Given the description of an element on the screen output the (x, y) to click on. 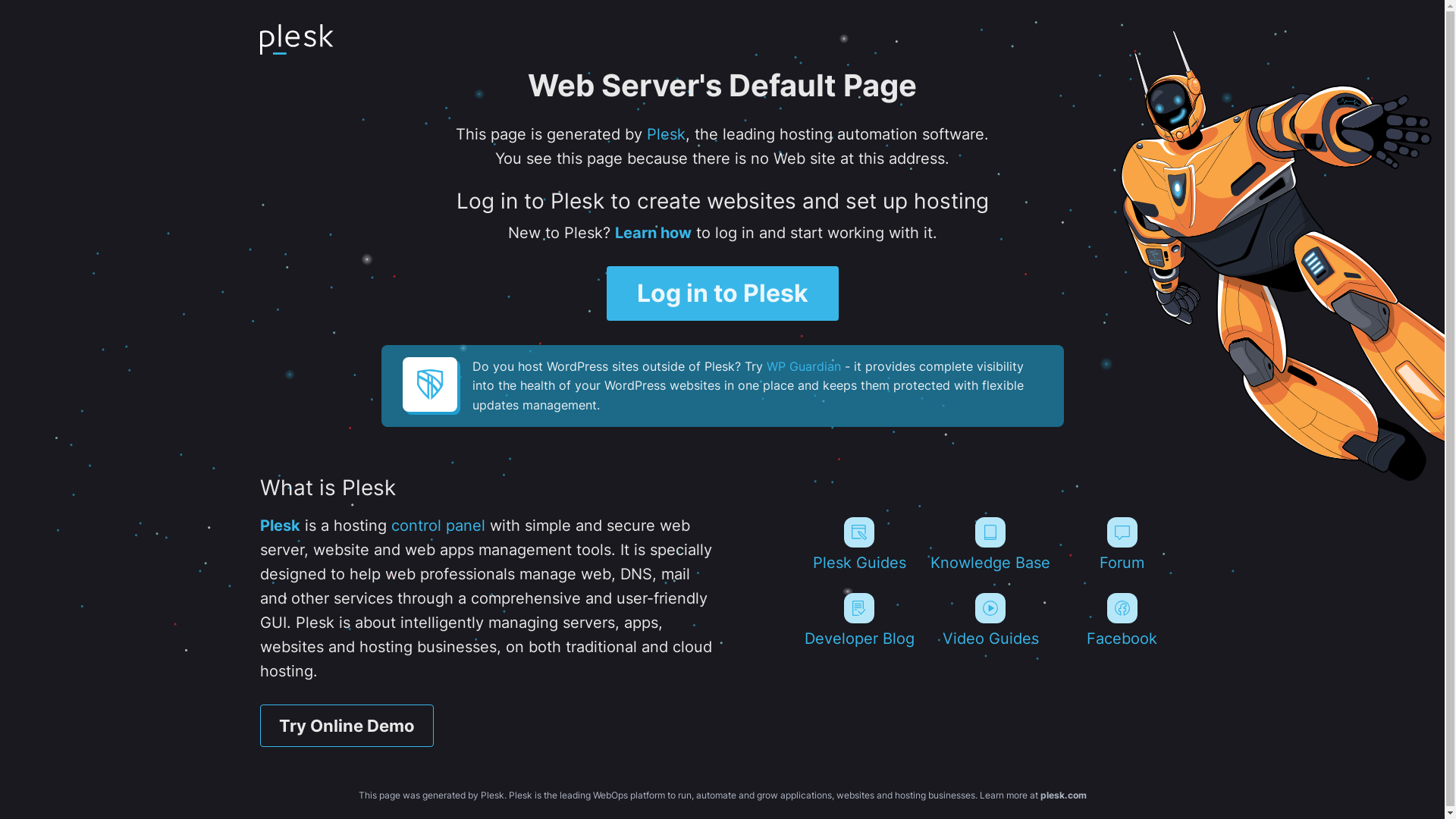
Knowledge Base Element type: text (990, 544)
Log in to Plesk Element type: text (722, 293)
control panel Element type: text (438, 525)
Developer Blog Element type: text (858, 620)
Video Guides Element type: text (990, 620)
Plesk Element type: text (665, 134)
Try Online Demo Element type: text (346, 725)
WP Guardian Element type: text (802, 365)
Learn how Element type: text (652, 232)
Plesk Guides Element type: text (858, 544)
Forum Element type: text (1121, 544)
Plesk Element type: text (279, 525)
Facebook Element type: text (1121, 620)
plesk.com Element type: text (1063, 794)
